Given the description of an element on the screen output the (x, y) to click on. 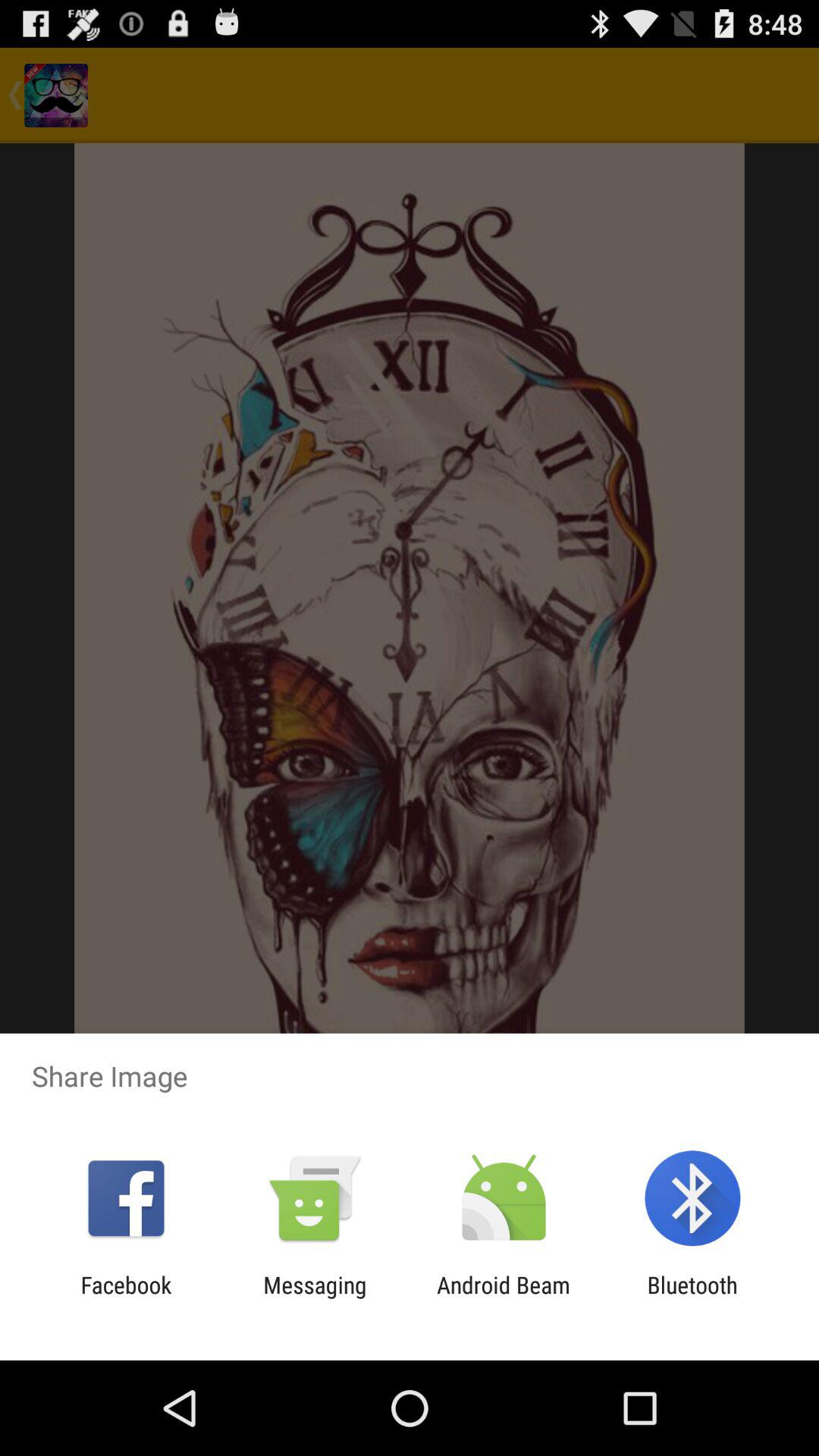
swipe to the facebook app (125, 1298)
